Given the description of an element on the screen output the (x, y) to click on. 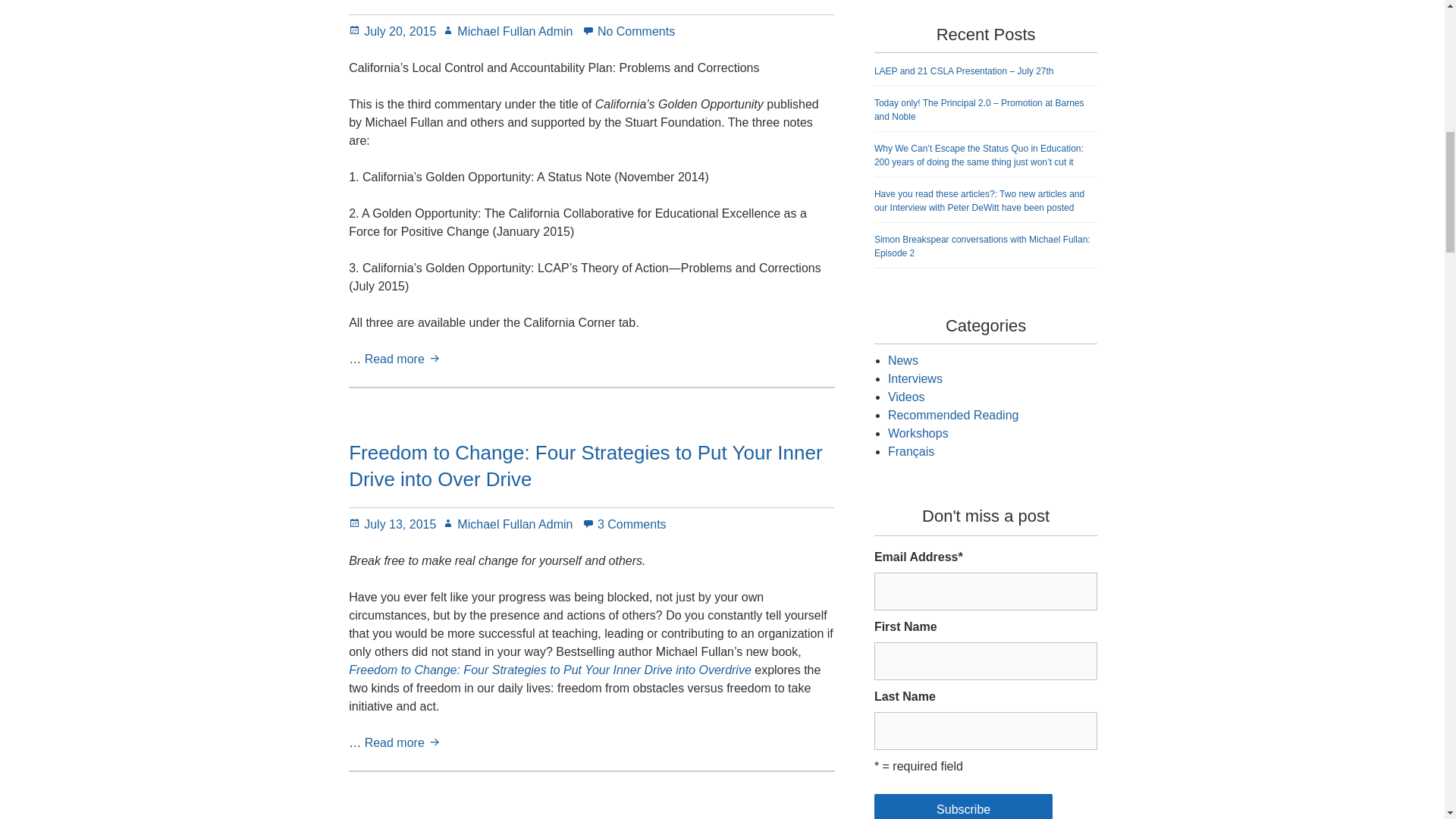
July 20, 2015 (392, 31)
Subscribe (963, 806)
Michael Fullan Admin (507, 31)
July 13, 2015 (392, 523)
Michael Fullan Admin (507, 523)
